Given the description of an element on the screen output the (x, y) to click on. 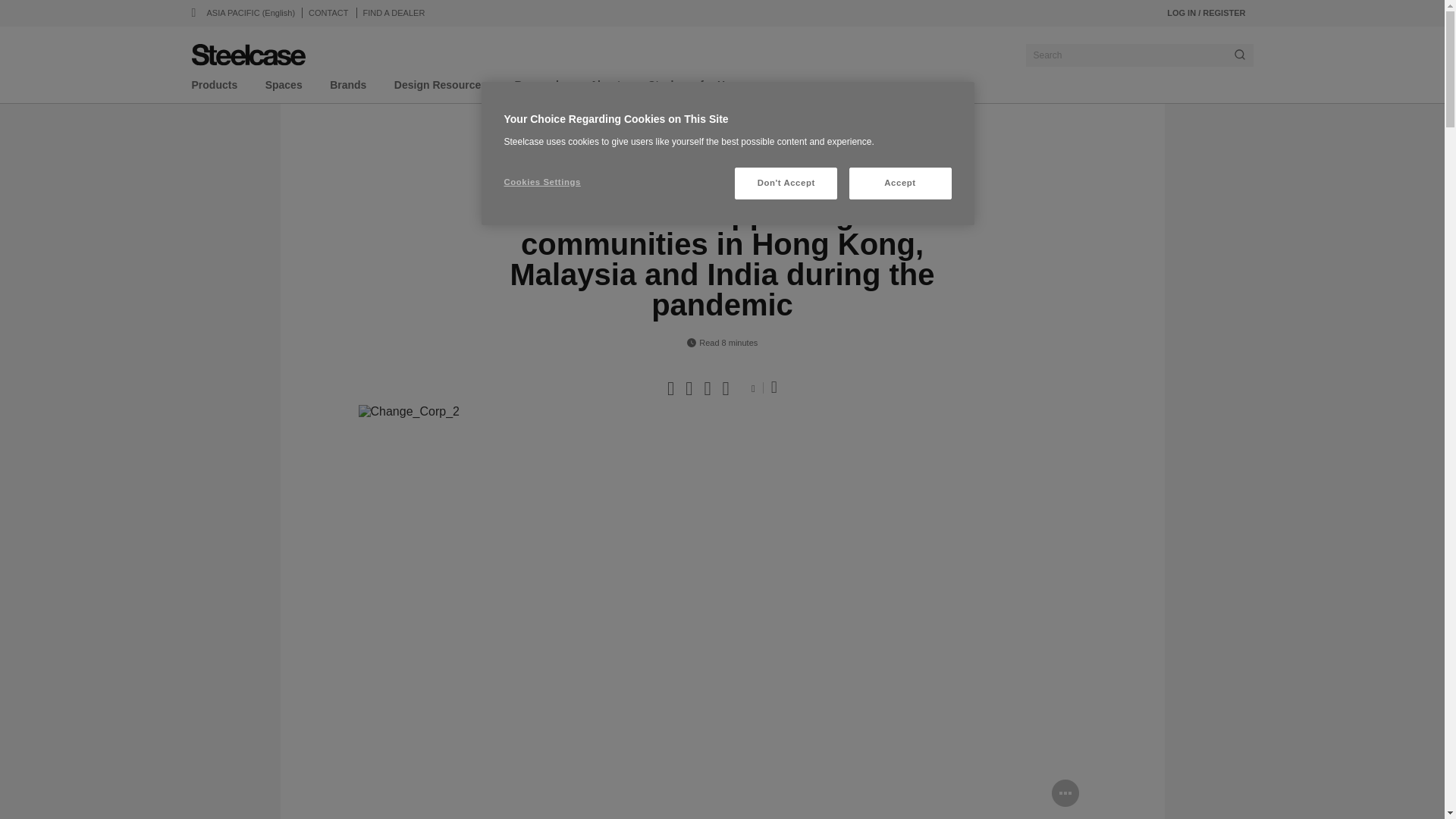
CONTACT (328, 12)
FIND A DEALER (393, 12)
Submit (1238, 55)
Products (213, 87)
